Given the description of an element on the screen output the (x, y) to click on. 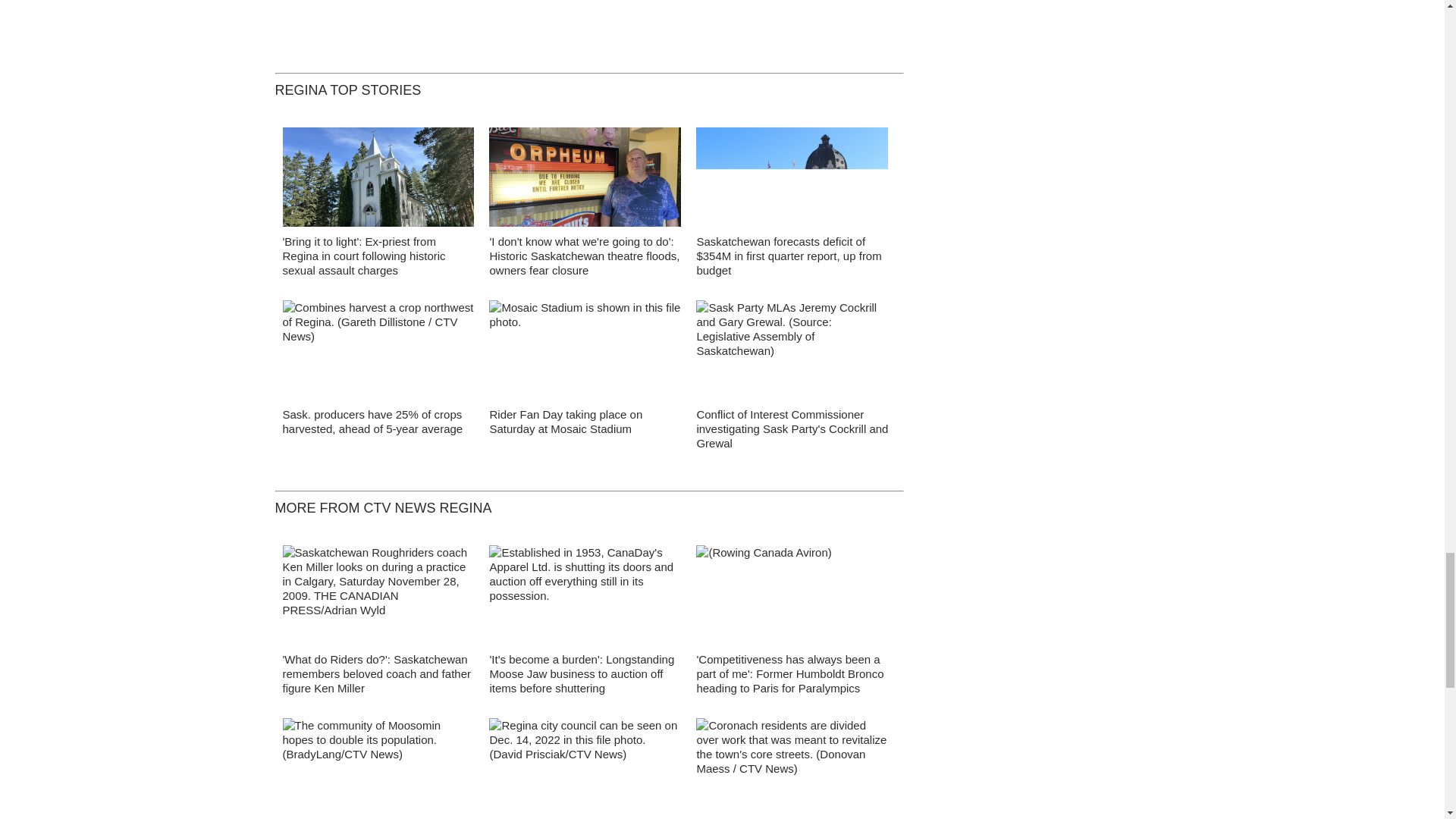
Jeremy Cockrill, Gary Grewal (791, 354)
St. Elijah Romanian Orthodox Church (378, 181)
Orpheum Theatre (585, 181)
Saskatchewan Legislative Building (791, 181)
Ken Miller (378, 599)
Rider Fan Day taking place on Saturday at Mosaic Stadium (565, 420)
Sask. harvest (378, 353)
mosaic stadium (585, 353)
